Given the description of an element on the screen output the (x, y) to click on. 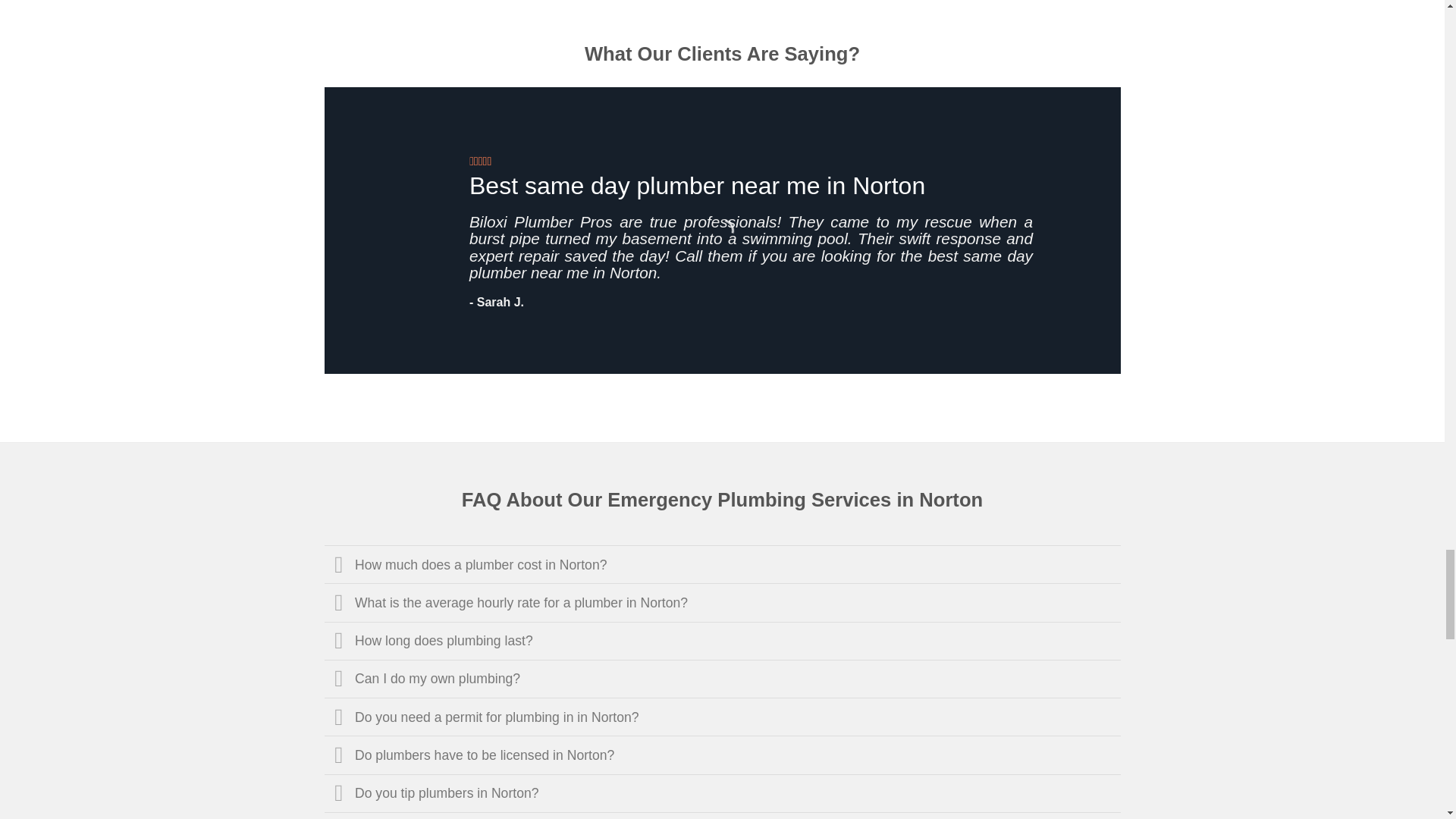
How much does a plumber cost in Norton? (722, 564)
What is the average hourly rate for a plumber in Norton? (722, 601)
Can I do my own plumbing? (722, 678)
Do you need a permit for plumbing in in Norton? (722, 716)
Do you tip plumbers in Norton? (722, 792)
How long does plumbing last? (722, 640)
Do plumbers have to be licensed in Norton? (722, 754)
